Given the description of an element on the screen output the (x, y) to click on. 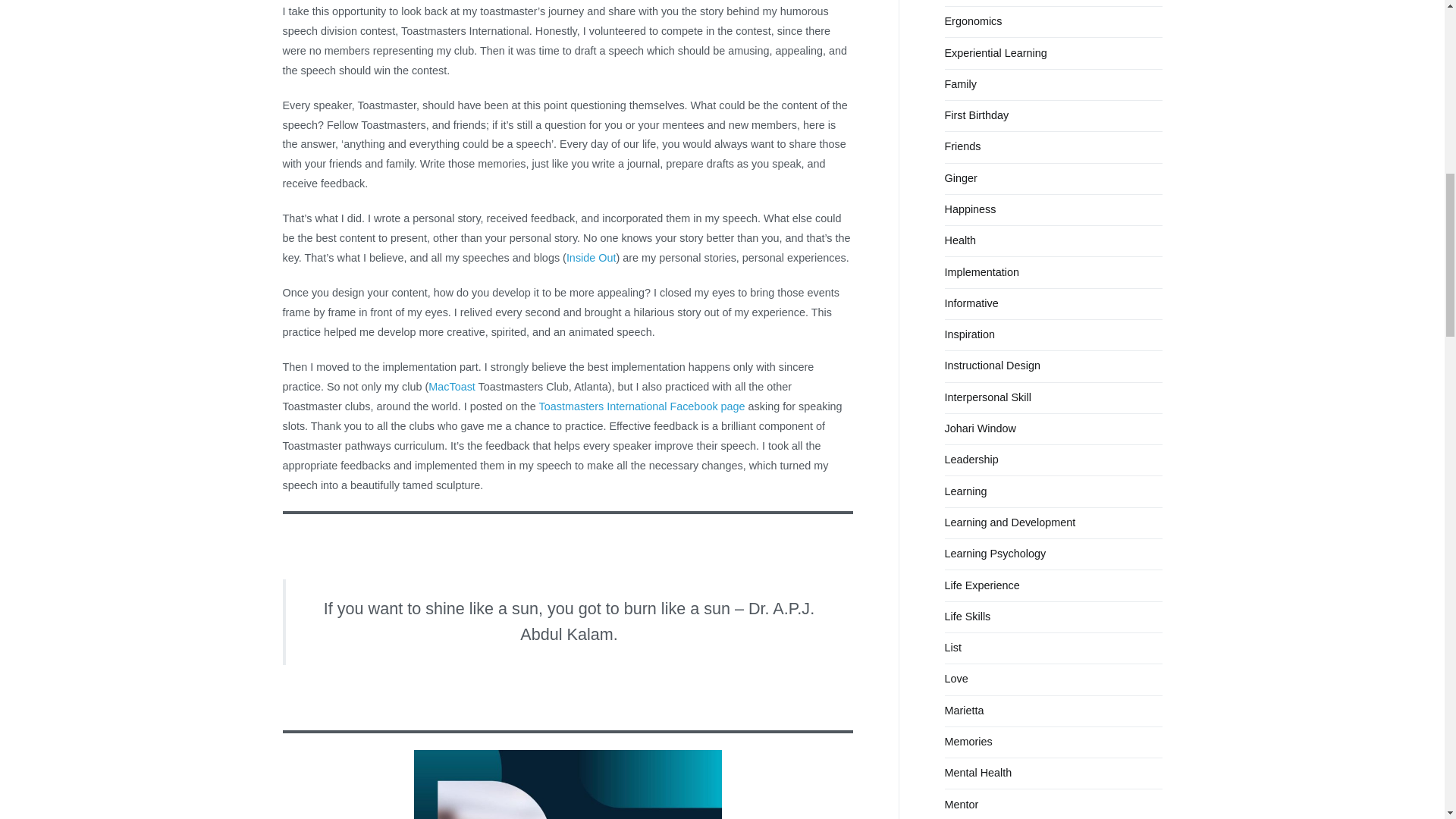
Toastmasters International Facebook page (643, 406)
Inside Out (590, 257)
MacToast (452, 386)
